Given the description of an element on the screen output the (x, y) to click on. 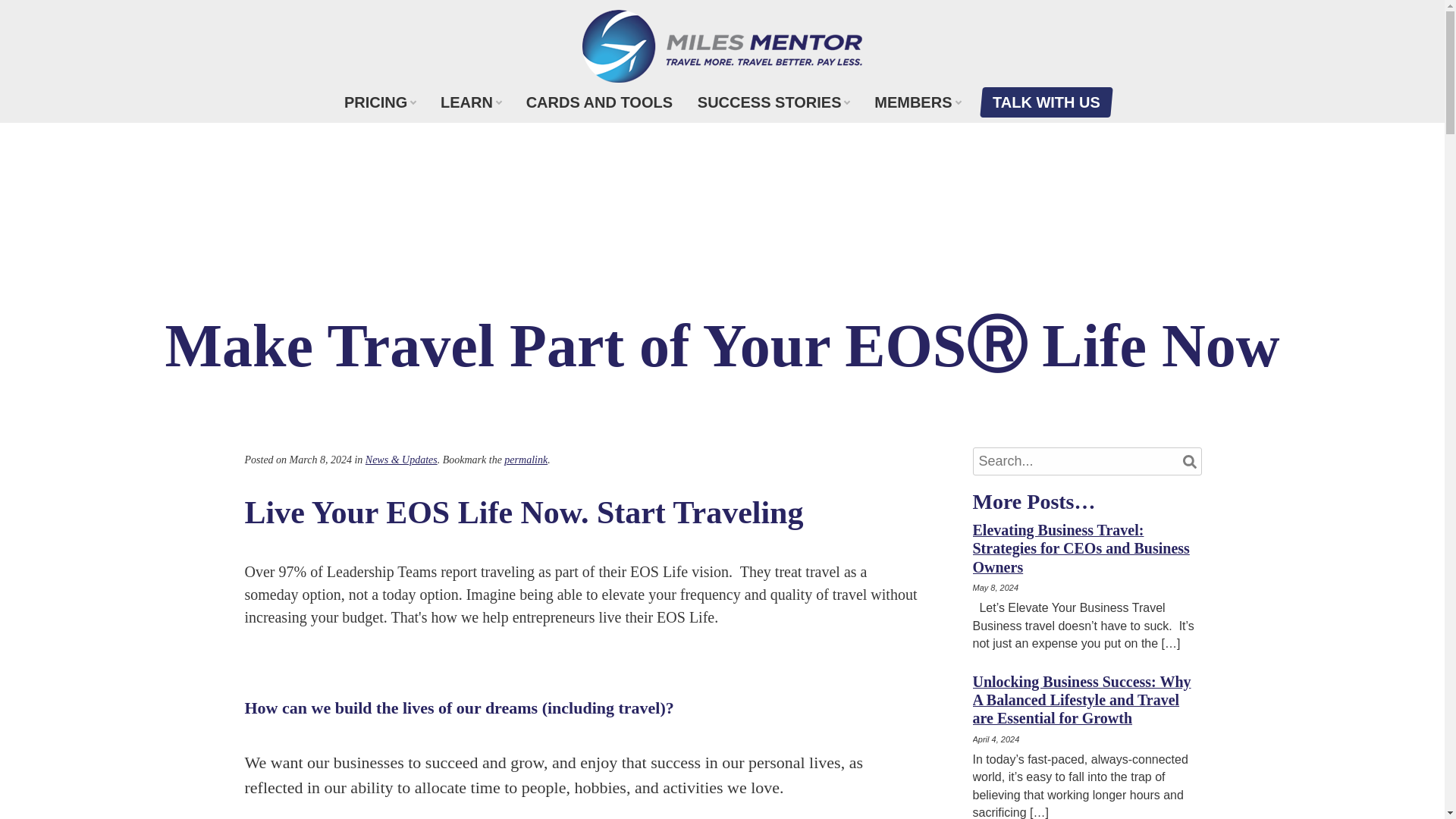
permalink (525, 460)
LEARN (470, 101)
PRICING (379, 101)
CARDS AND TOOLS (599, 101)
MEMBERS (917, 101)
TALK WITH US (1044, 101)
SUCCESS STORIES (773, 101)
